Given the description of an element on the screen output the (x, y) to click on. 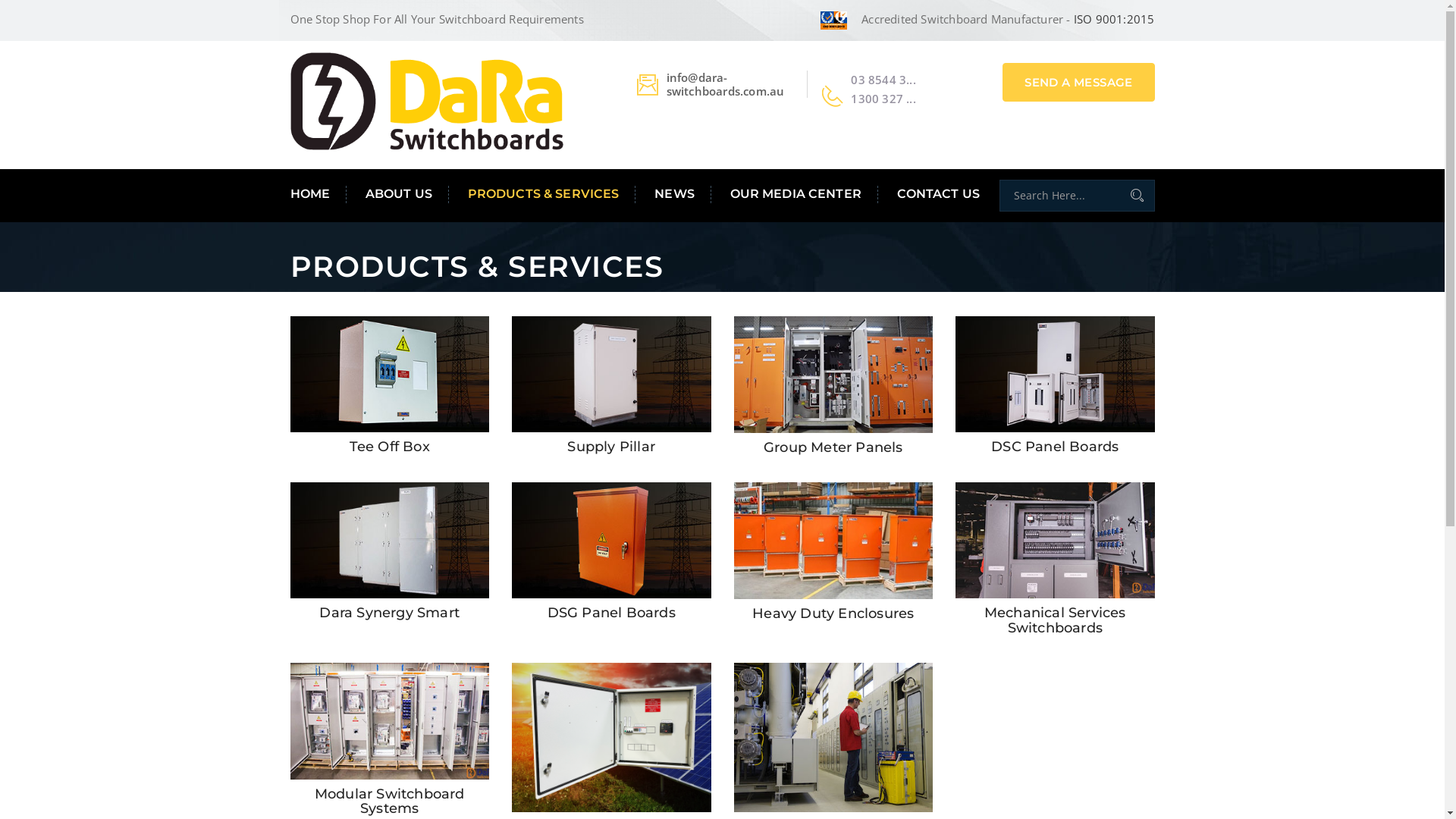
PRODUCTS & SERVICES Element type: text (543, 194)
Modular Switchboard Systems Element type: text (389, 801)
DSC Panel Boards Element type: text (1054, 446)
mssb Element type: hover (1054, 540)
Group Meter Panels Element type: text (833, 447)
Supply Pillar Element type: text (611, 446)
Open-Door with Background Element type: hover (611, 737)
Dara Synergy Smart Element type: text (389, 612)
ABOUT US Element type: text (398, 194)
Heavy Duty Enclosures Element type: text (832, 613)
DSG Panel Boards Element type: text (611, 612)
mod-switch Element type: hover (389, 720)
group-meter-panels-services-min Element type: hover (833, 374)
dss Element type: hover (389, 540)
OUR MEDIA CENTER Element type: text (796, 194)
info@dara-switchboards.com.au Element type: text (725, 83)
Mechanical Services Switchboards Element type: text (1055, 620)
03 8544 3...
1300 327 ... Element type: text (882, 89)
HOME Element type: text (317, 194)
13971-4706021-min Element type: hover (833, 737)
Tee Off Box Element type: text (389, 446)
NEWS Element type: text (674, 194)
tee-off Element type: hover (389, 374)
CONTACT US Element type: text (930, 194)
Dara Electrical Switchboards Element type: hover (425, 99)
Heavy-duty-closures-services-min Element type: hover (833, 540)
supply-pillar Element type: hover (611, 374)
dsc Element type: hover (1054, 374)
dsg Element type: hover (611, 540)
SEND A MESSAGE Element type: text (1078, 81)
